Given the description of an element on the screen output the (x, y) to click on. 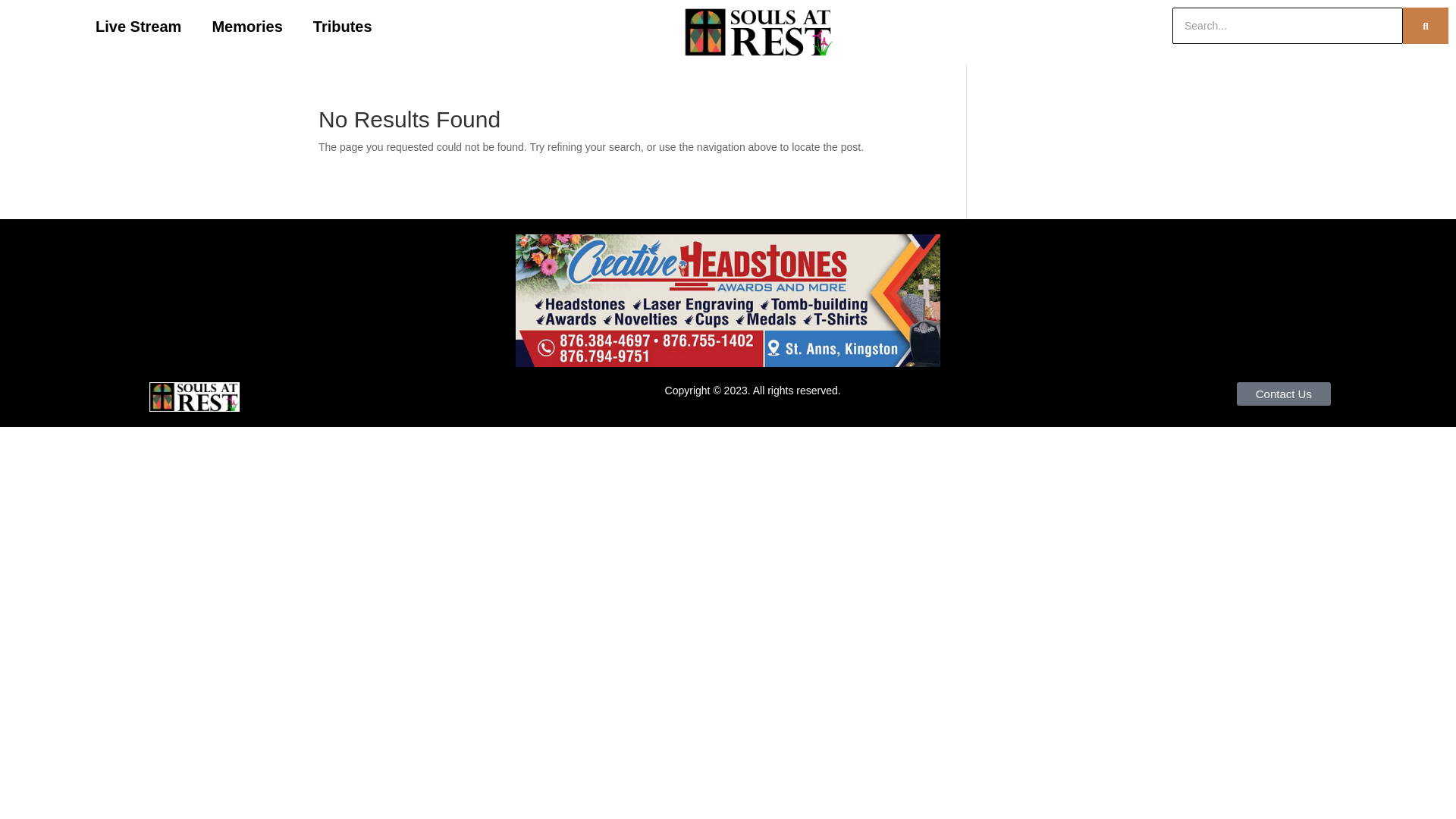
Search (1294, 25)
Contact Us (1283, 393)
